Given the description of an element on the screen output the (x, y) to click on. 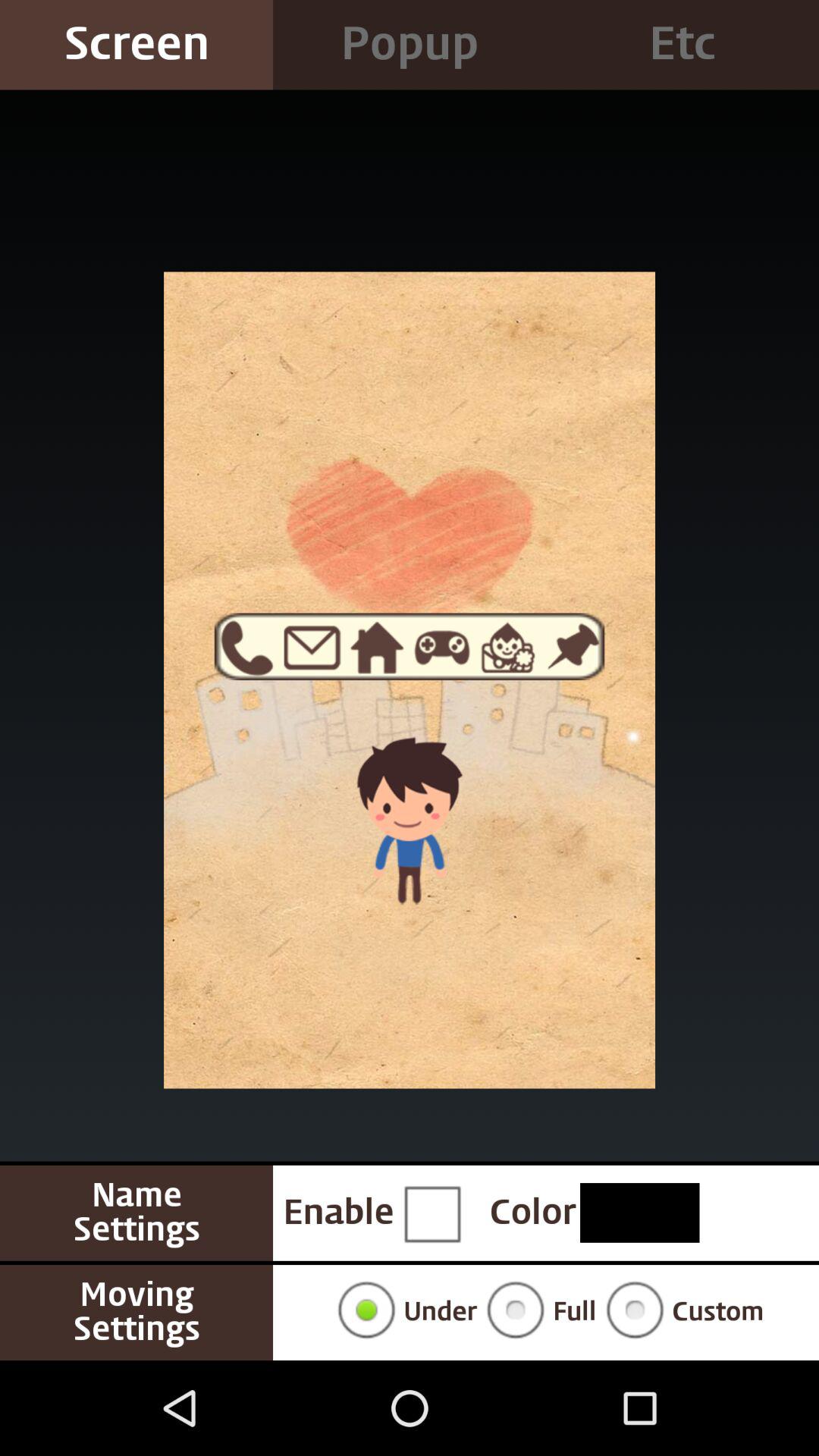
button to enable name settings (431, 1212)
